Given the description of an element on the screen output the (x, y) to click on. 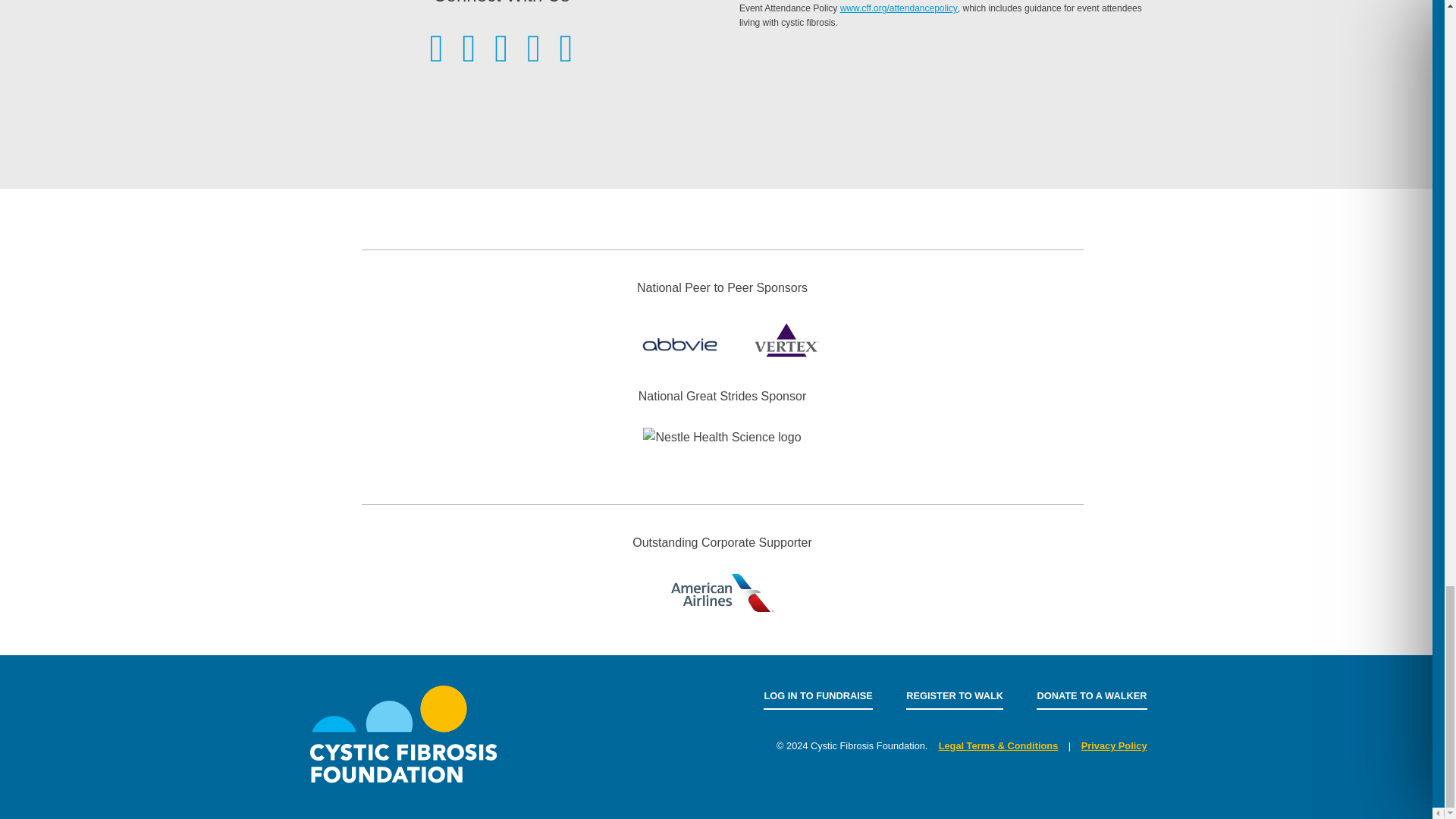
REGISTER TO WALK (954, 695)
Follow link (899, 8)
Privacy Policy (1114, 745)
DONATE TO A WALKER (1091, 695)
LOG IN TO FUNDRAISE (817, 695)
